Given the description of an element on the screen output the (x, y) to click on. 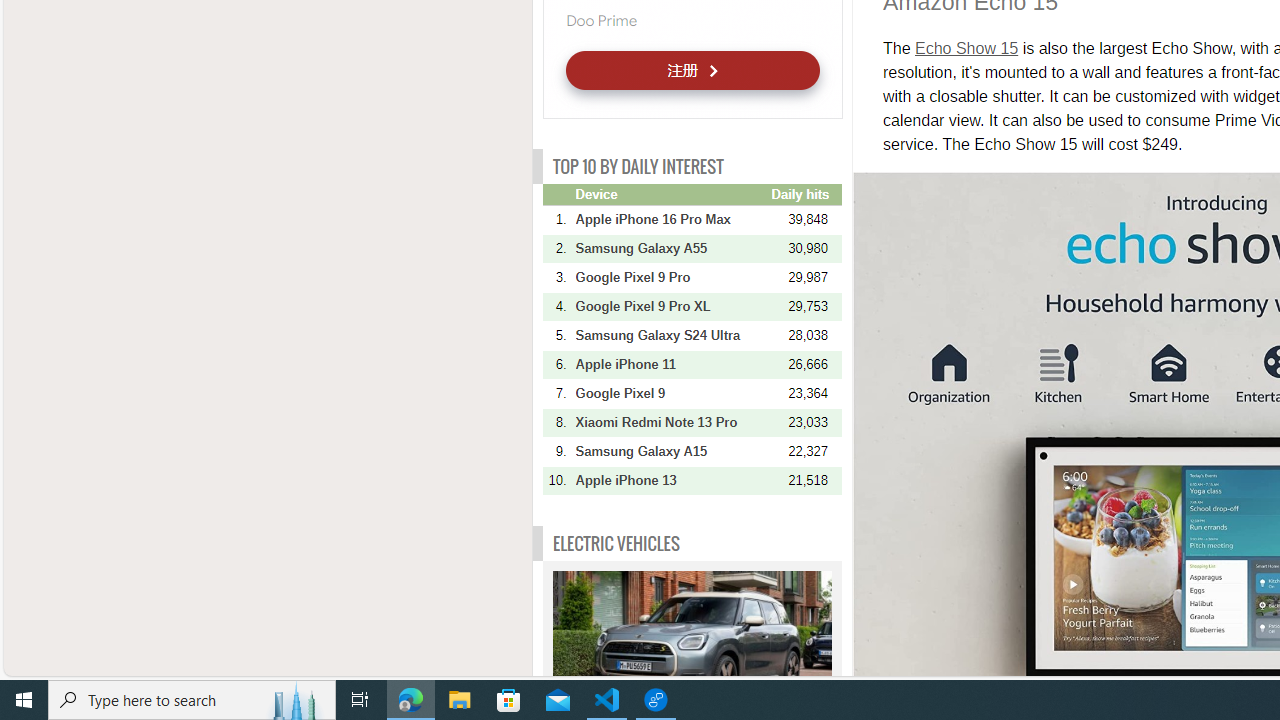
Samsung Galaxy S24 Ultra (671, 335)
Samsung Galaxy A55 (671, 248)
Xiaomi Redmi Note 13 Pro (671, 422)
Samsung Galaxy A15 (671, 451)
Echo Show 15 (966, 48)
Apple iPhone 11 (671, 363)
Google Pixel 9 Pro XL (671, 306)
Google Pixel 9 Pro (671, 277)
Google Pixel 9 (671, 393)
Apple iPhone 13 (671, 480)
Apple iPhone 16 Pro Max (671, 219)
Doo Prime (600, 20)
